Given the description of an element on the screen output the (x, y) to click on. 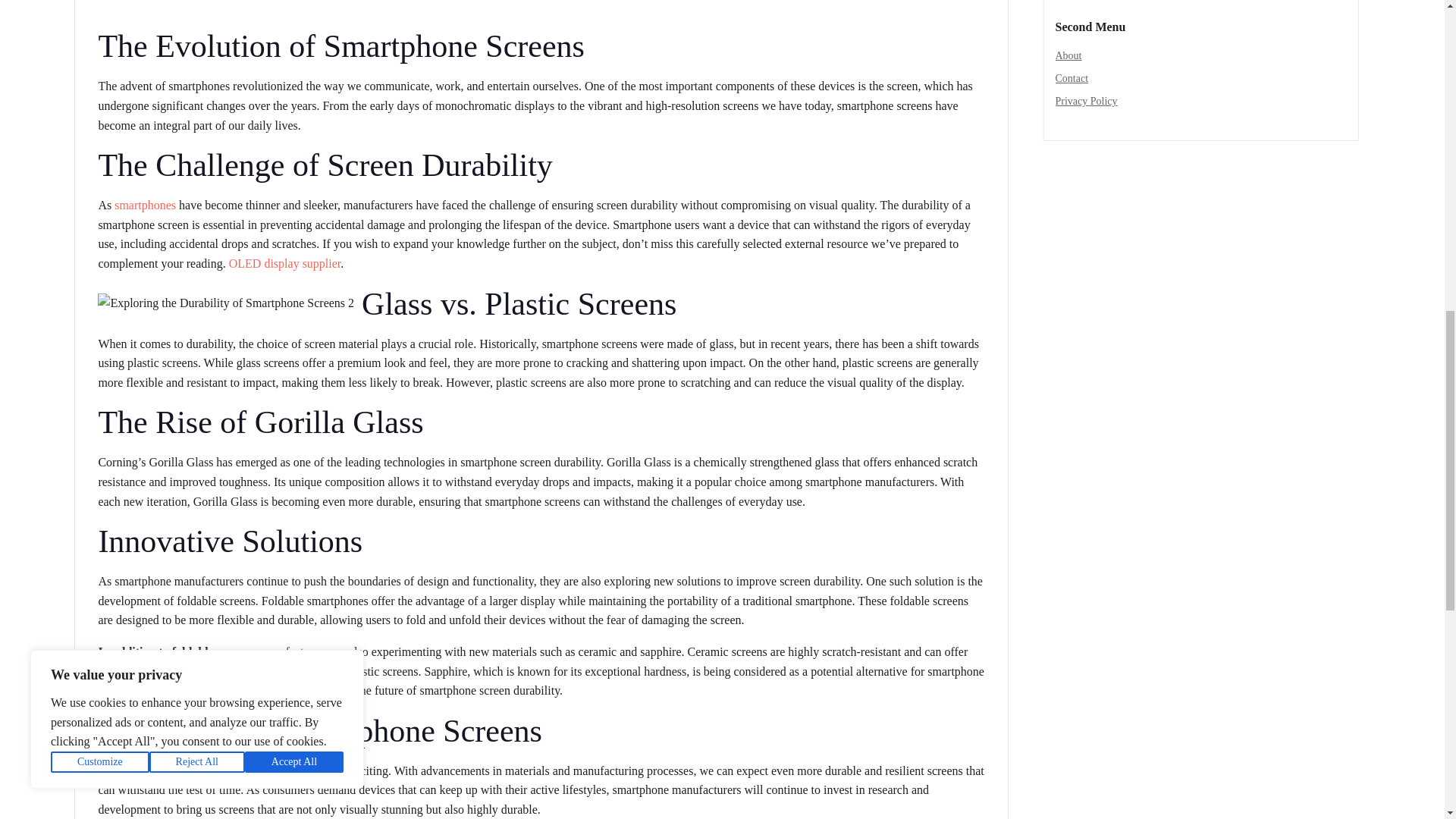
OLED display supplier (284, 263)
smartphones (145, 205)
admin (119, 0)
